Given the description of an element on the screen output the (x, y) to click on. 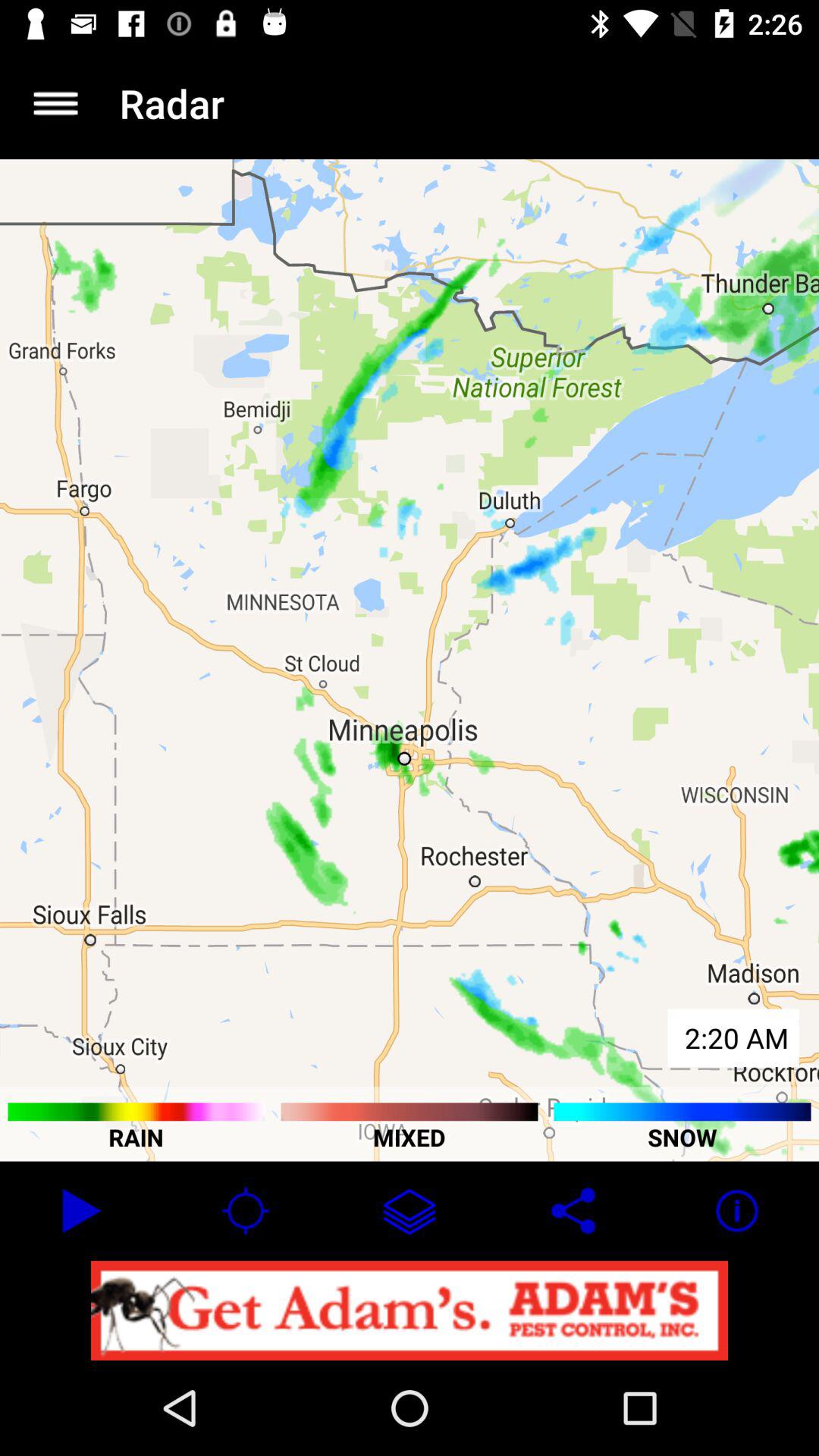
click the item to the left of radar icon (55, 103)
